Given the description of an element on the screen output the (x, y) to click on. 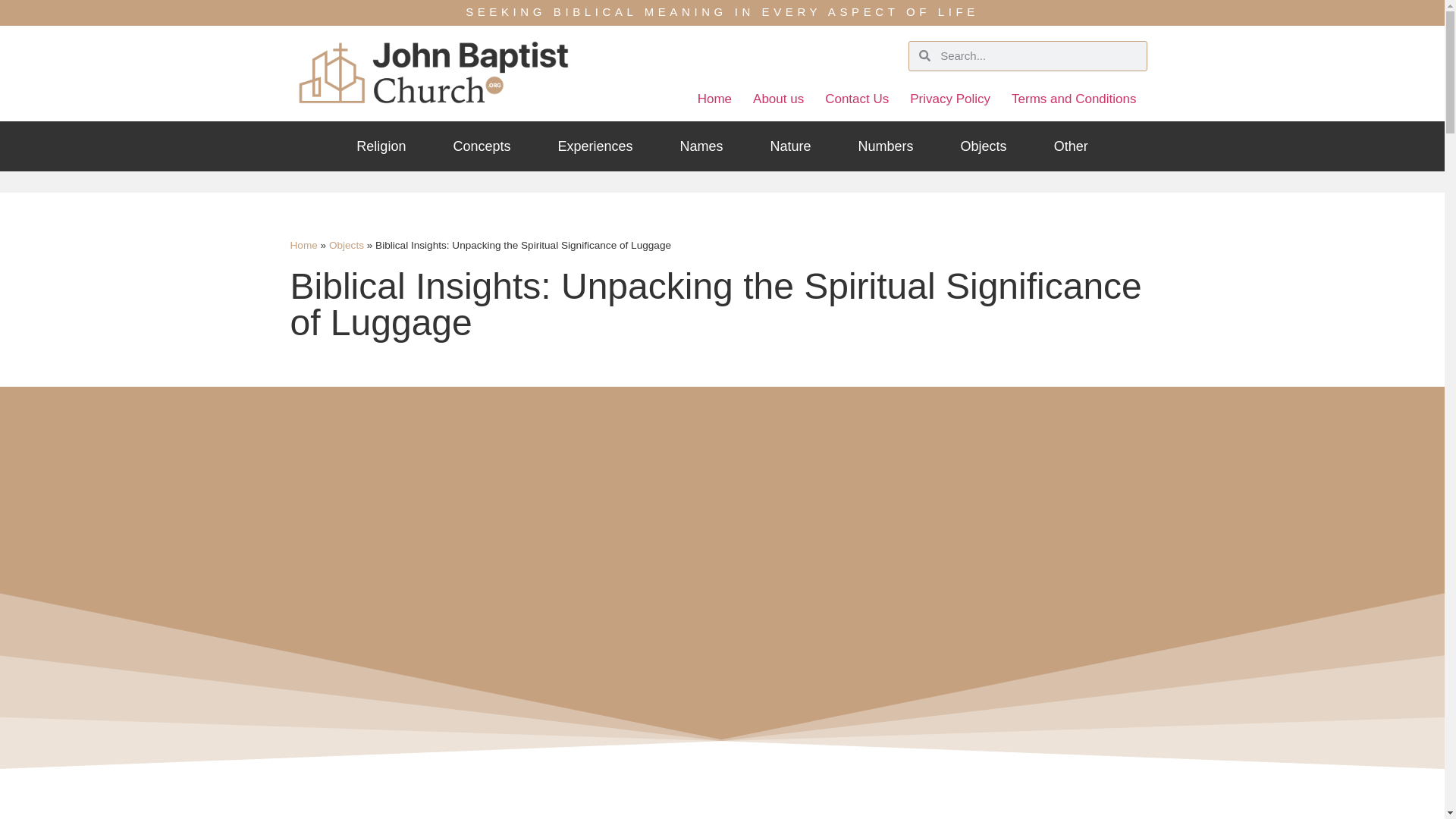
Privacy Policy (950, 99)
Objects (346, 244)
About us (777, 99)
Names (701, 145)
Home (303, 244)
Terms and Conditions (1074, 99)
Concepts (481, 145)
Objects (983, 145)
Numbers (885, 145)
Religion (380, 145)
Contact Us (856, 99)
Experiences (594, 145)
Home (714, 99)
Other (1071, 145)
Nature (791, 145)
